Given the description of an element on the screen output the (x, y) to click on. 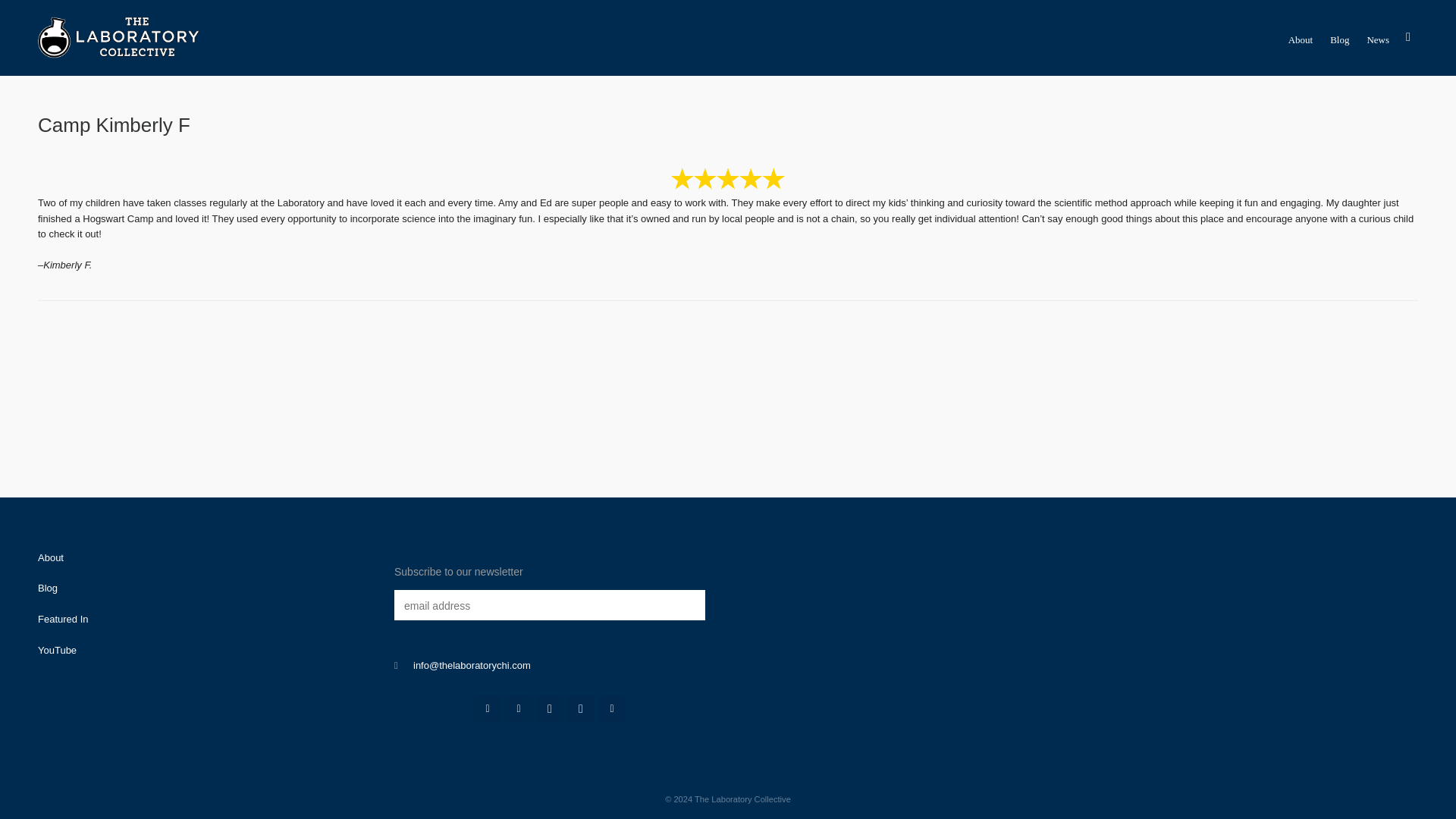
About (50, 557)
Subscribe (432, 648)
Blog (47, 587)
Featured In (62, 618)
YouTube (57, 650)
